Given the description of an element on the screen output the (x, y) to click on. 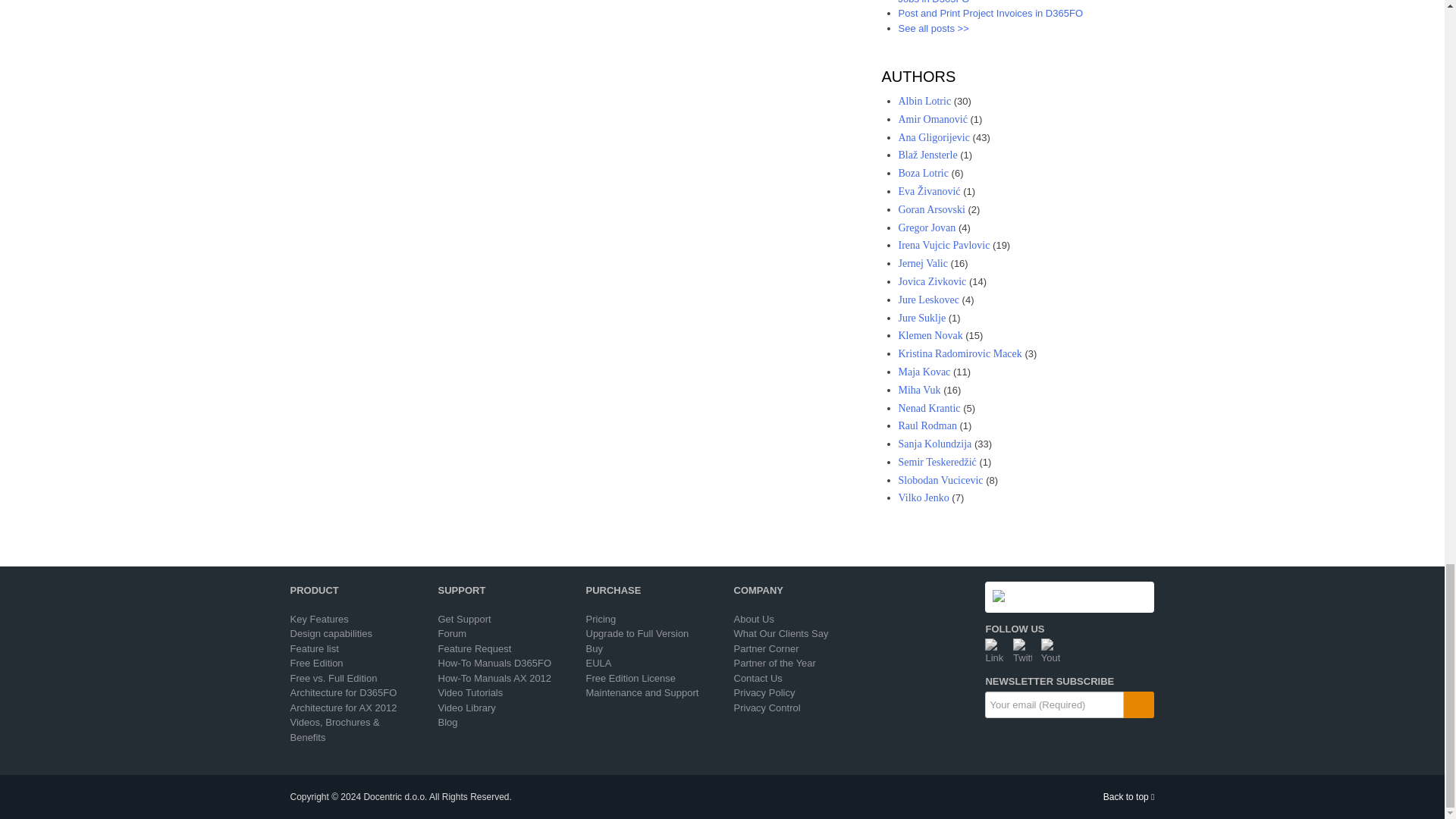
Posts by Albin Lotric (924, 101)
Posts by Boza Lotric (922, 173)
Posts by Ana Gligorijevic (933, 137)
Posts by Goran Arsovski (930, 209)
Posts by Irena Vujcic Pavlovic (944, 244)
Posts by Gregor Jovan (926, 227)
Send (1139, 704)
